Given the description of an element on the screen output the (x, y) to click on. 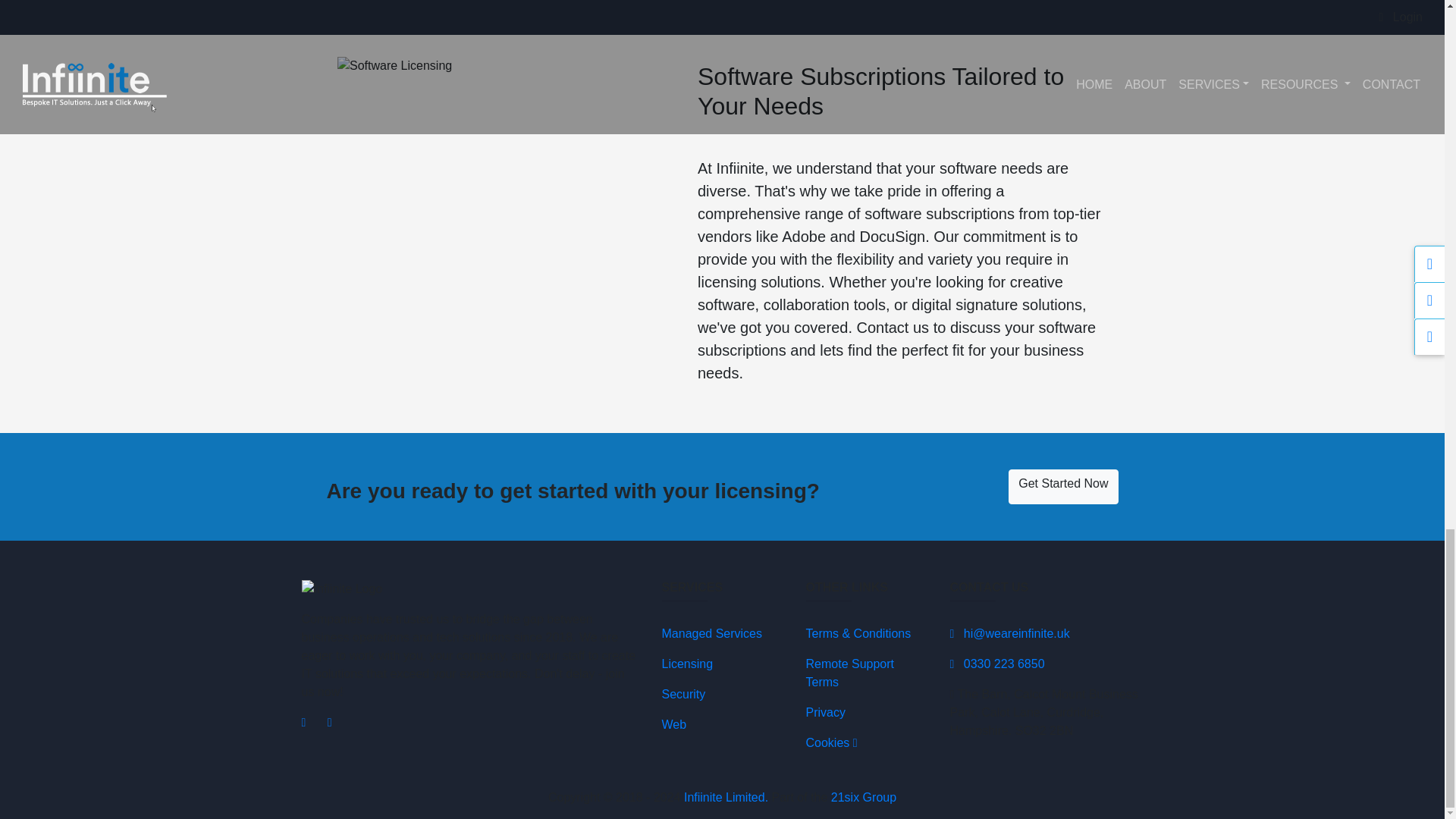
Facebook (314, 721)
Security (682, 694)
Privacy (824, 712)
LinkedIn (338, 721)
Managed Services (711, 633)
0330 223 6850 (996, 663)
Cookies (831, 742)
Web (673, 724)
Remote Support Terms (849, 672)
0330 223 6850 (996, 663)
Get Started Now (1063, 486)
Licensing (687, 663)
